Given the description of an element on the screen output the (x, y) to click on. 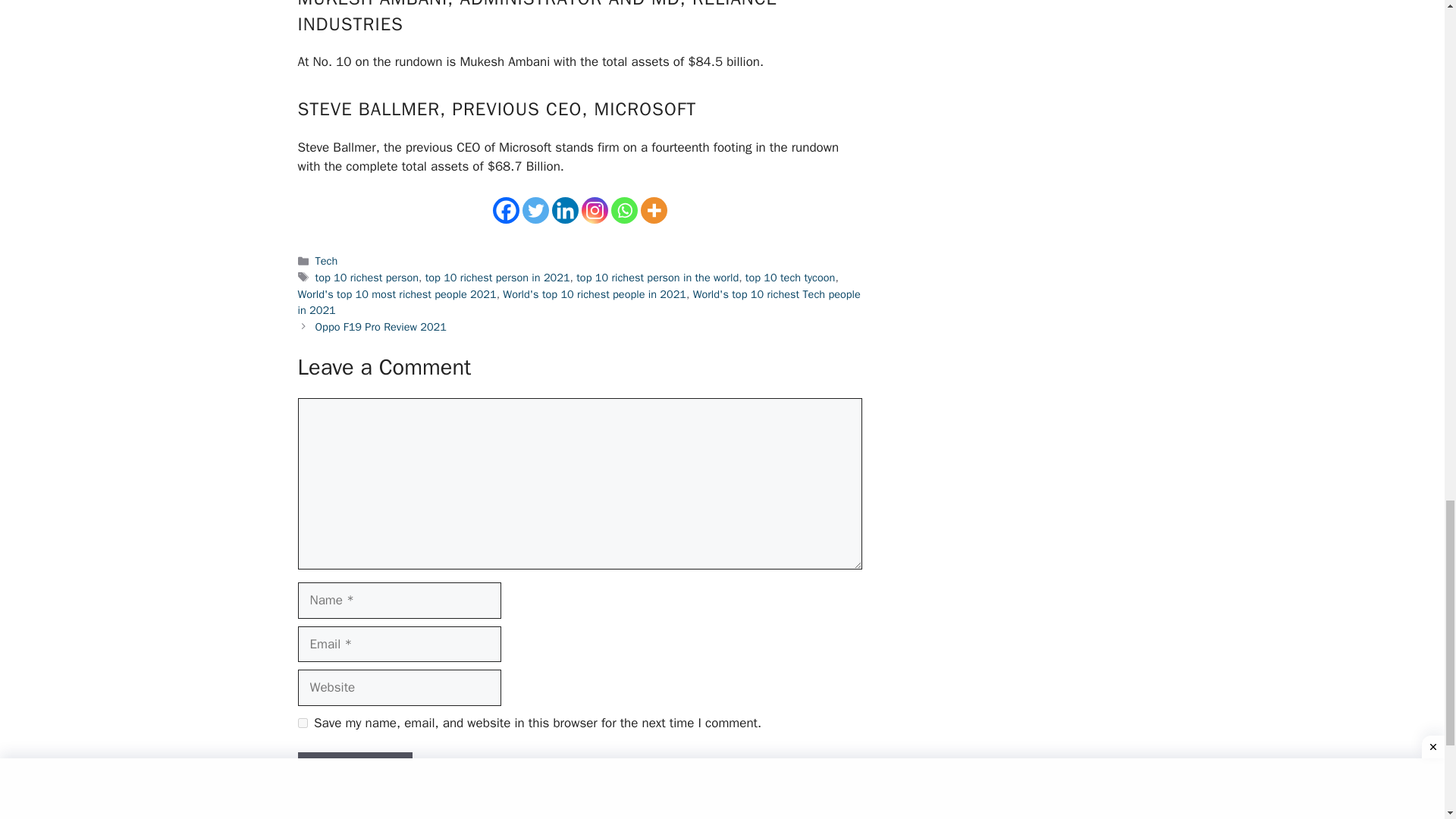
Post Comment (354, 770)
top 10 richest person in 2021 (497, 277)
Whatsapp (624, 210)
Oppo F19 Pro Review 2021 (380, 326)
World's top 10 richest Tech people in 2021 (578, 302)
Post Comment (354, 770)
More (653, 210)
top 10 richest person (367, 277)
top 10 tech tycoon (790, 277)
top 10 richest person in the world (657, 277)
